Given the description of an element on the screen output the (x, y) to click on. 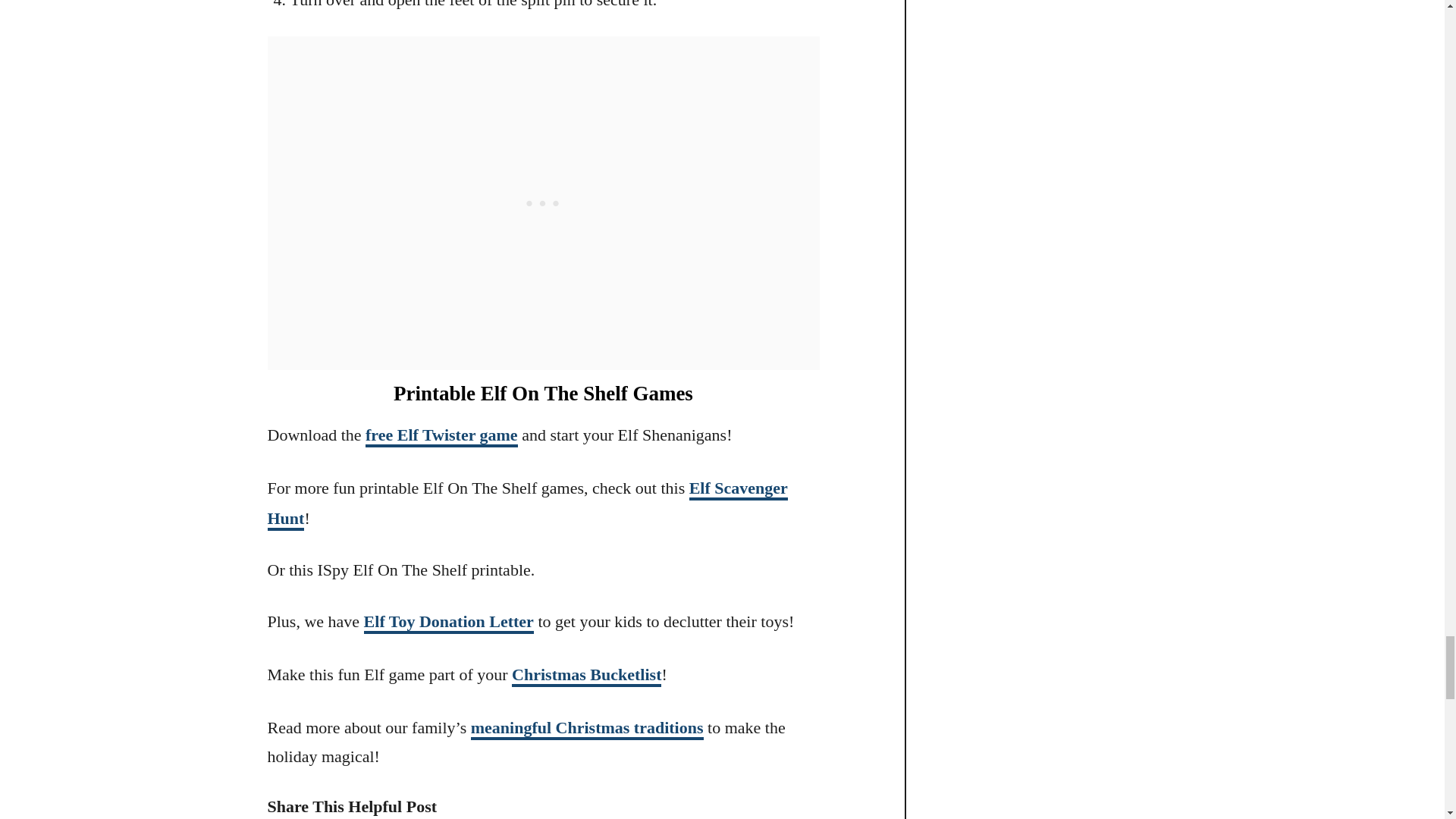
free Elf Twister game (441, 436)
meaningful Christmas traditions (586, 729)
Christmas Bucketlist (586, 676)
Elf Toy Donation Letter (449, 622)
Elf Scavenger Hunt (526, 504)
